Given the description of an element on the screen output the (x, y) to click on. 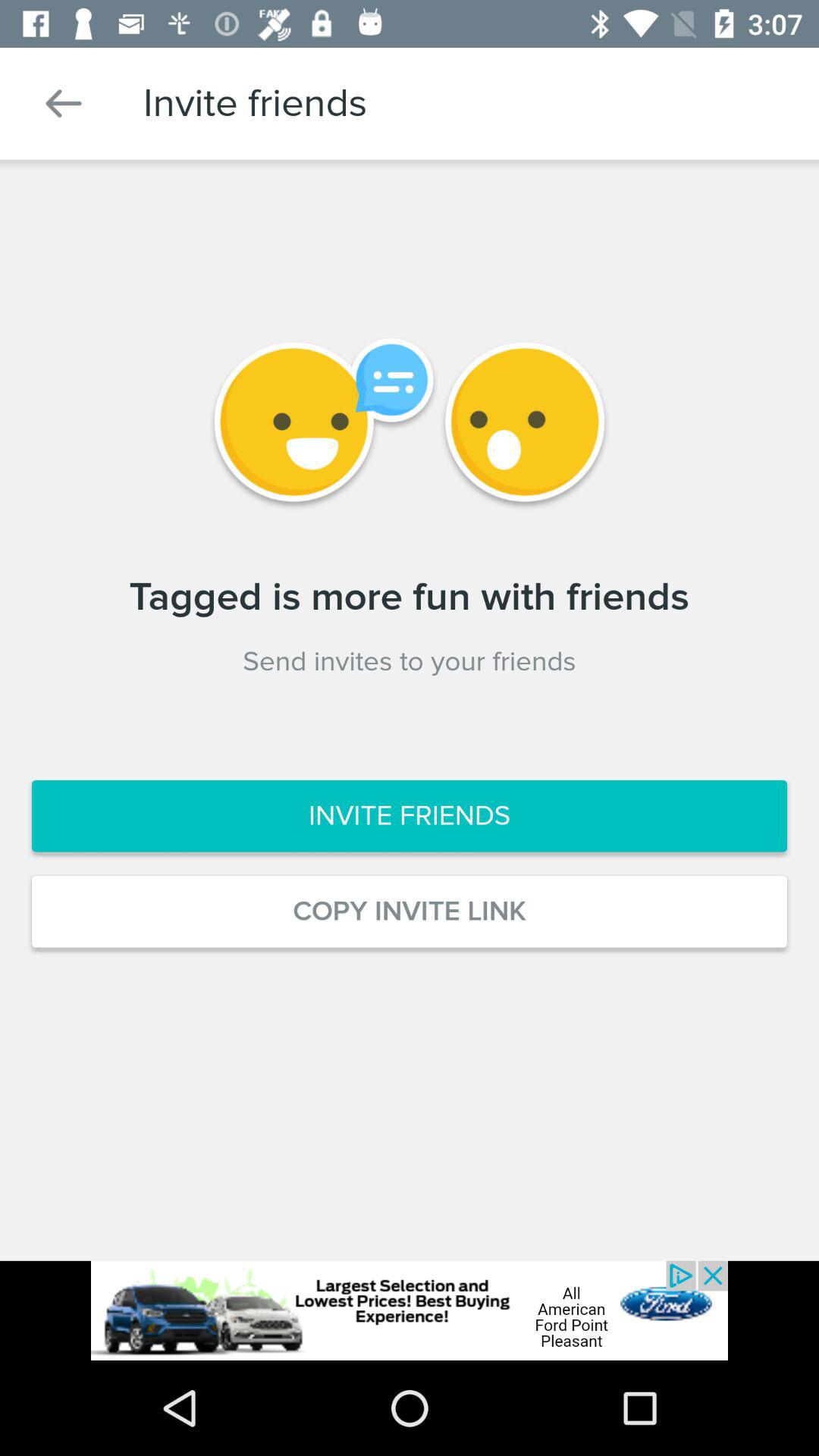
click on advertisement (409, 1310)
